Given the description of an element on the screen output the (x, y) to click on. 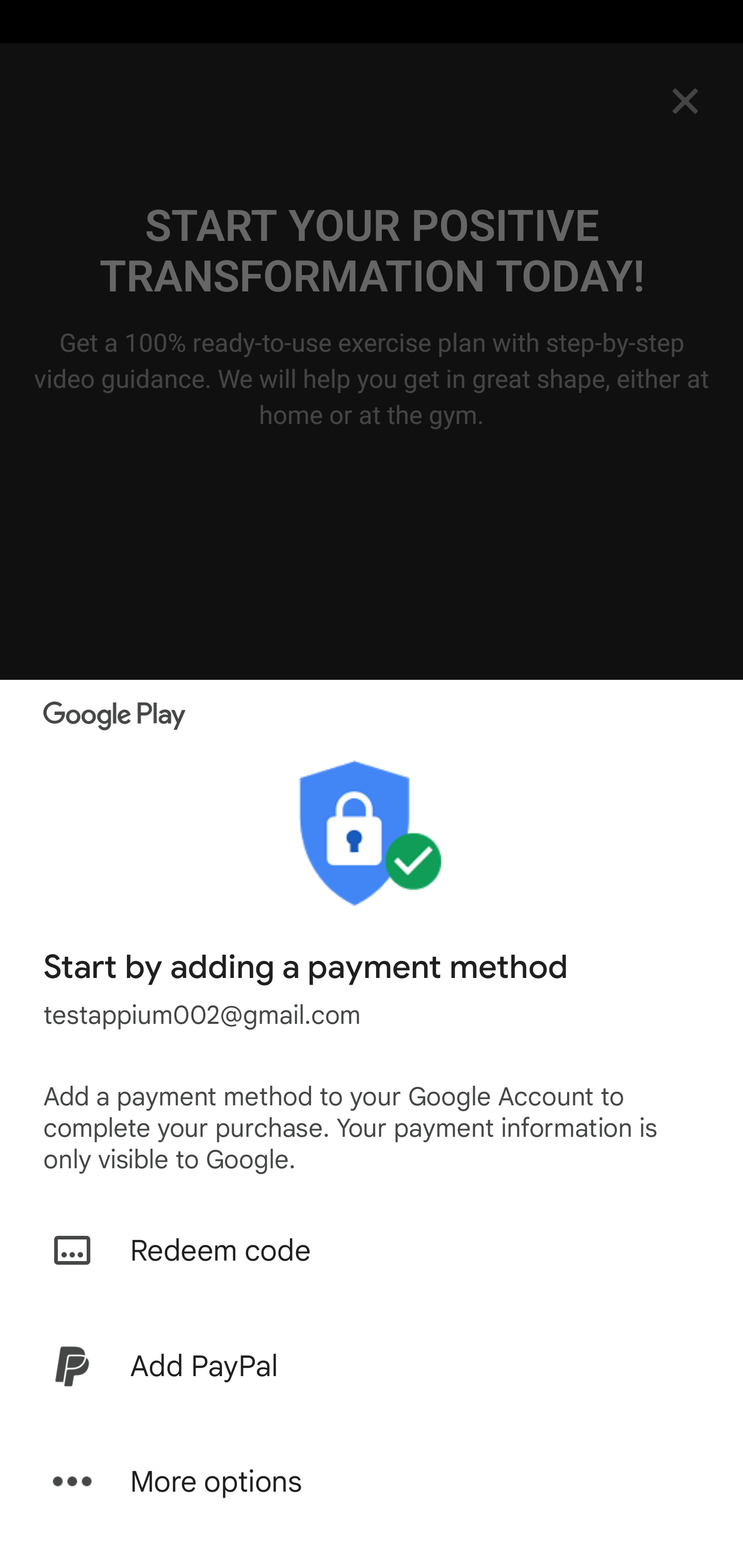
Redeem code (371, 1250)
Add PayPal (371, 1365)
More options (371, 1481)
